Given the description of an element on the screen output the (x, y) to click on. 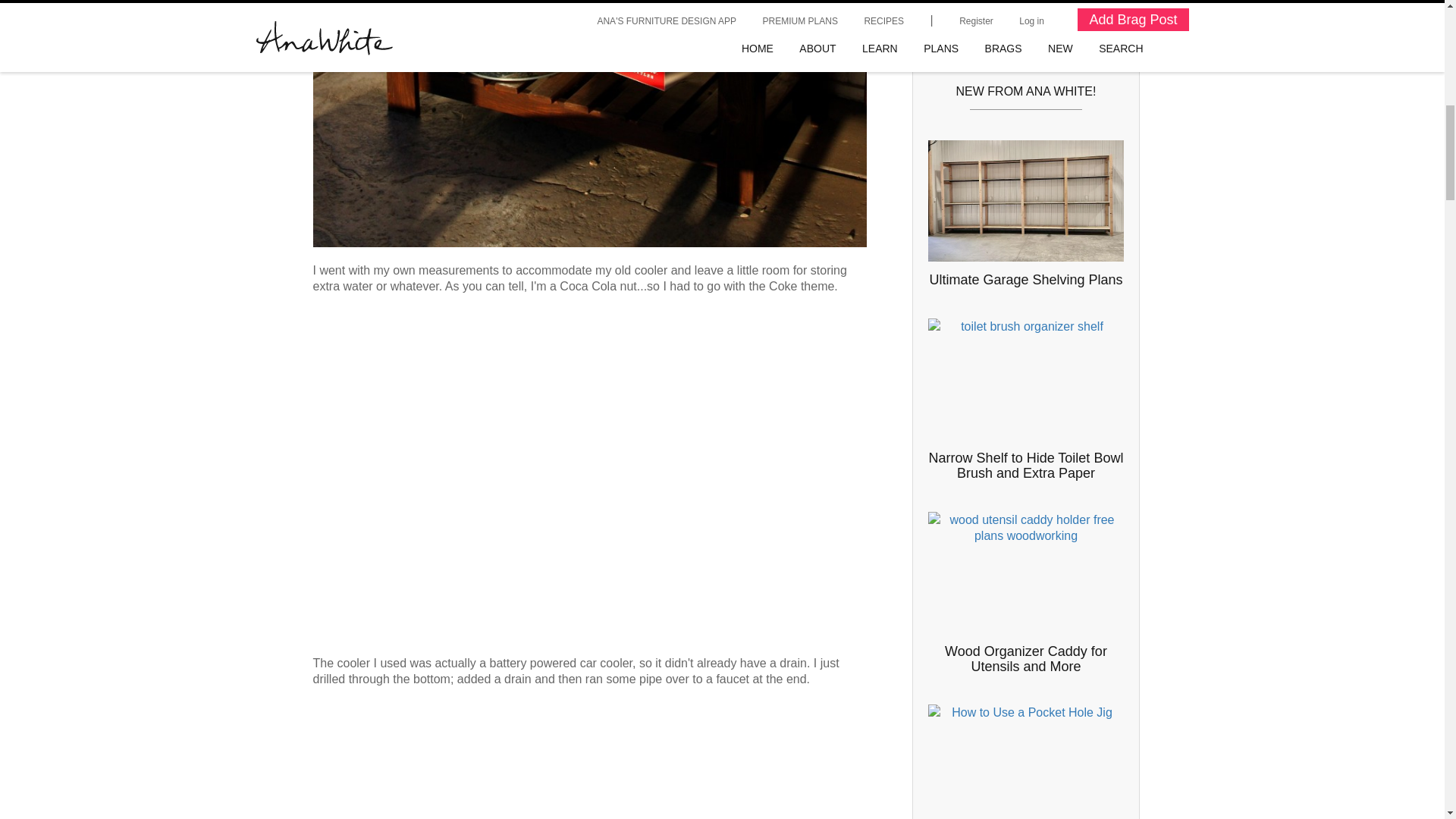
Narrow Shelf to Hide Toilet Bowl Brush and Extra Paper (1025, 465)
Wood Organizer Caddy for Utensils and More (1025, 658)
Ultimate Garage Shelving Plans (1025, 279)
